Given the description of an element on the screen output the (x, y) to click on. 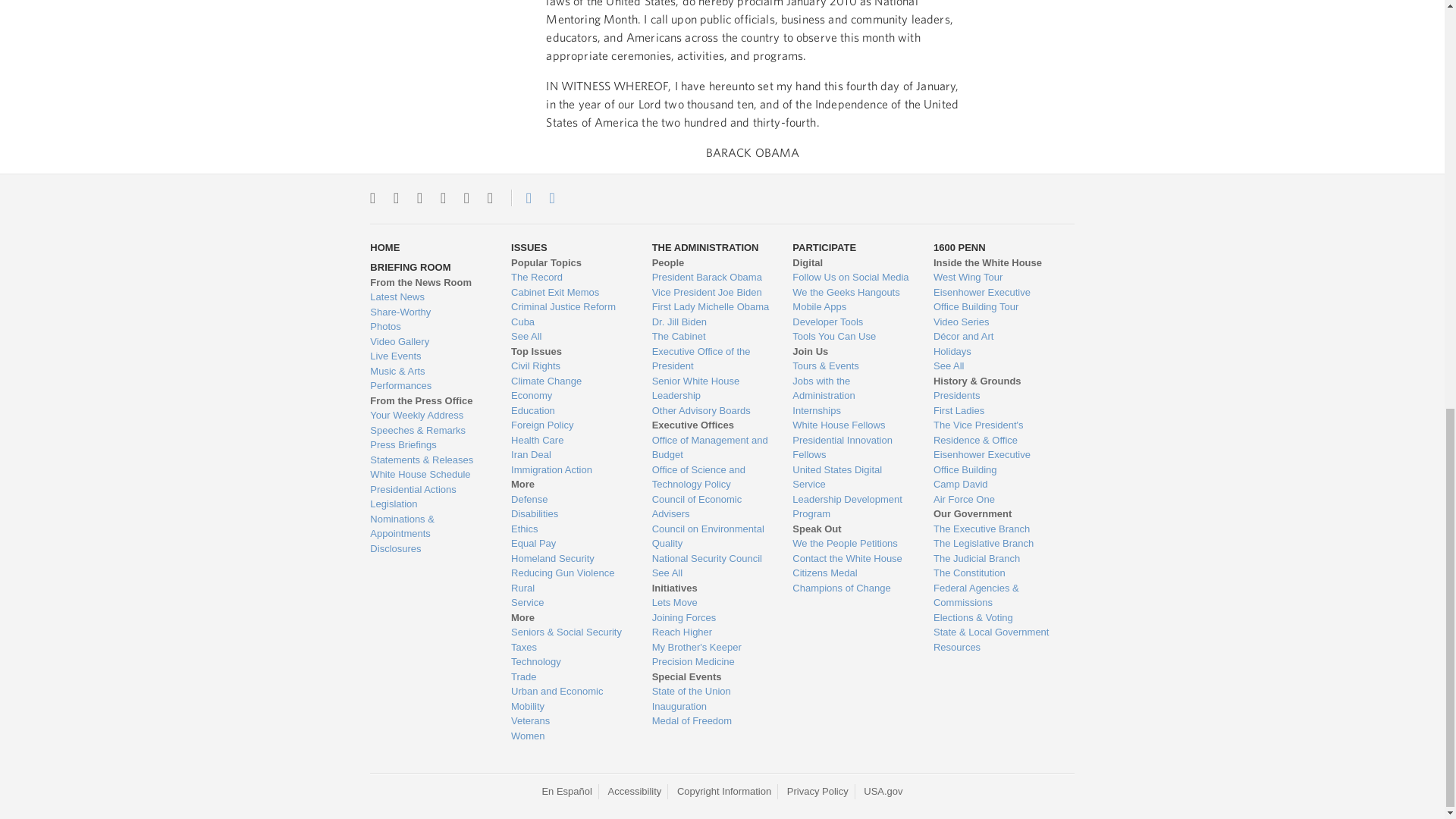
View the photo of the day and other galleries (428, 326)
Watch behind-the-scenes videos and more (428, 341)
Read the latest blog posts from 1600 Pennsylvania Ave (428, 296)
Contact the Whitehouse. (521, 197)
Check out the most popular infographics and videos (428, 312)
